Given the description of an element on the screen output the (x, y) to click on. 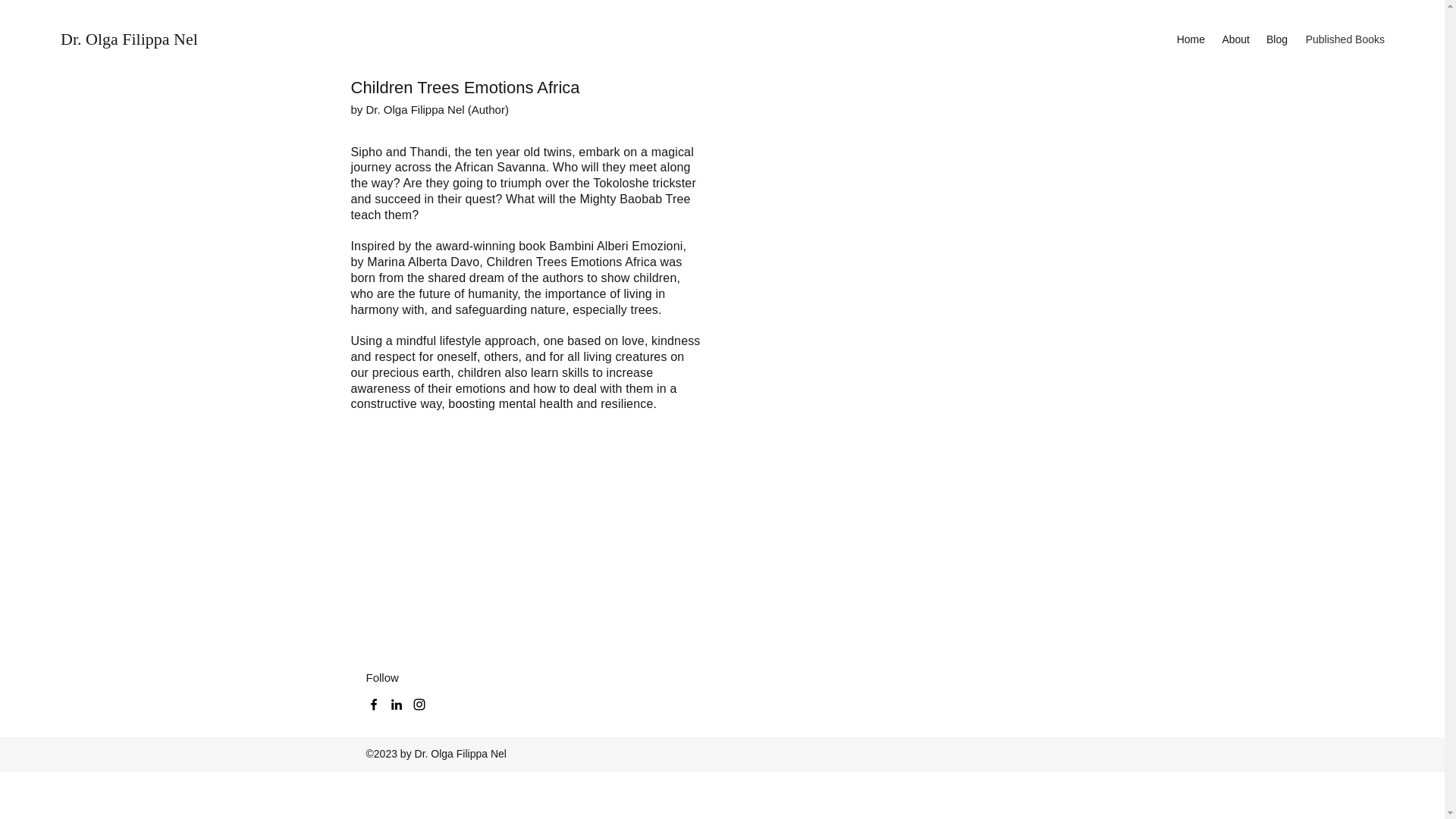
Published Books (1343, 38)
Dr. Olga Filippa Nel (415, 109)
Home (1189, 38)
Blog (1276, 38)
About (1234, 38)
